Given the description of an element on the screen output the (x, y) to click on. 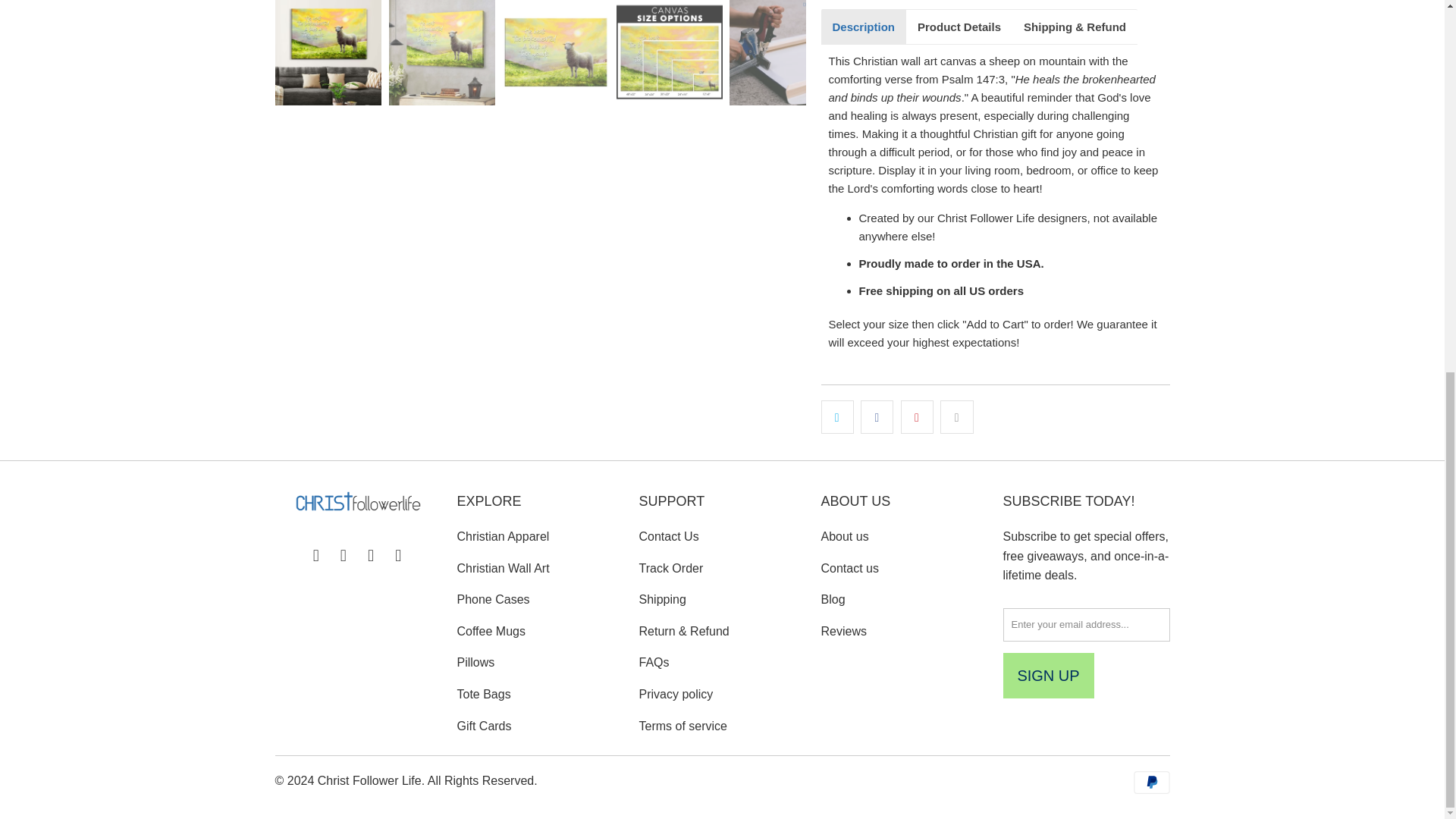
Christ Follower Life on Pinterest (370, 556)
PayPal (1150, 782)
Christian gift for anyone (1032, 133)
Share this on Pinterest (917, 417)
Sign Up (1048, 675)
Email this to a friend (956, 417)
Christ Follower Life on Facebook (315, 556)
Christ Follower Life on YouTube (344, 556)
Share this on Twitter (837, 417)
Share this on Facebook (876, 417)
